Given the description of an element on the screen output the (x, y) to click on. 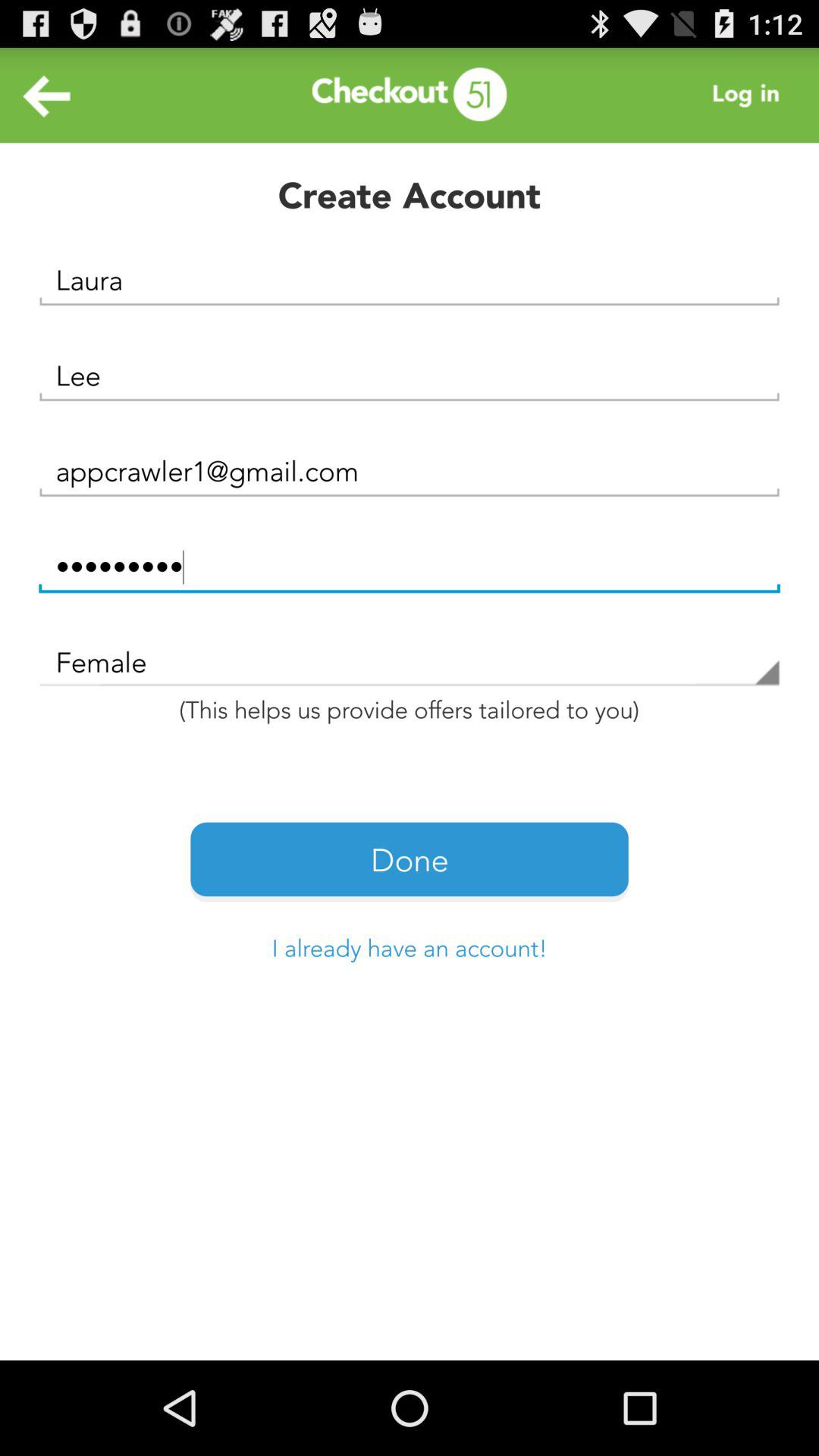
go back (47, 95)
